Given the description of an element on the screen output the (x, y) to click on. 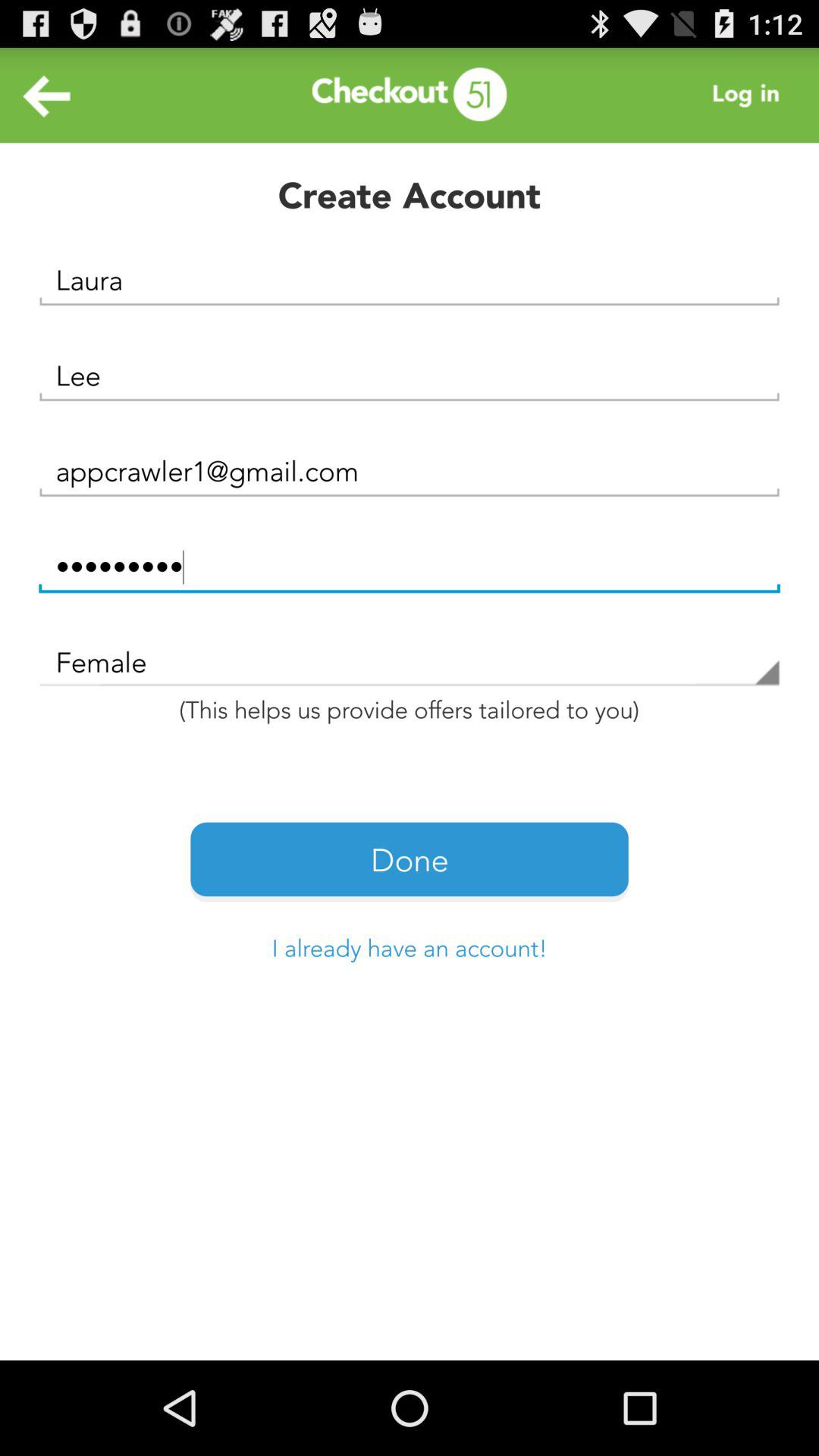
go back (47, 95)
